Given the description of an element on the screen output the (x, y) to click on. 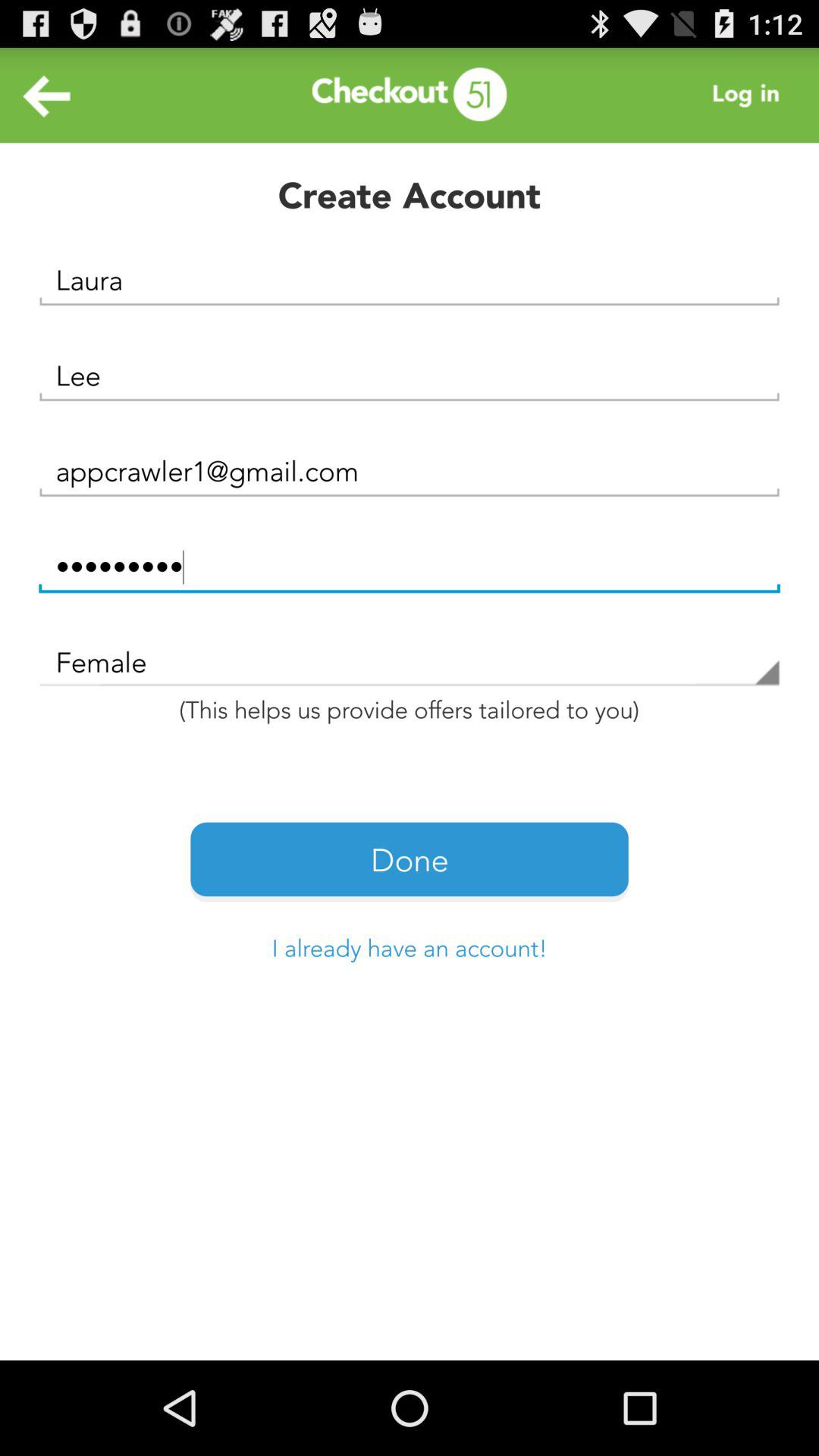
go back (47, 95)
